Given the description of an element on the screen output the (x, y) to click on. 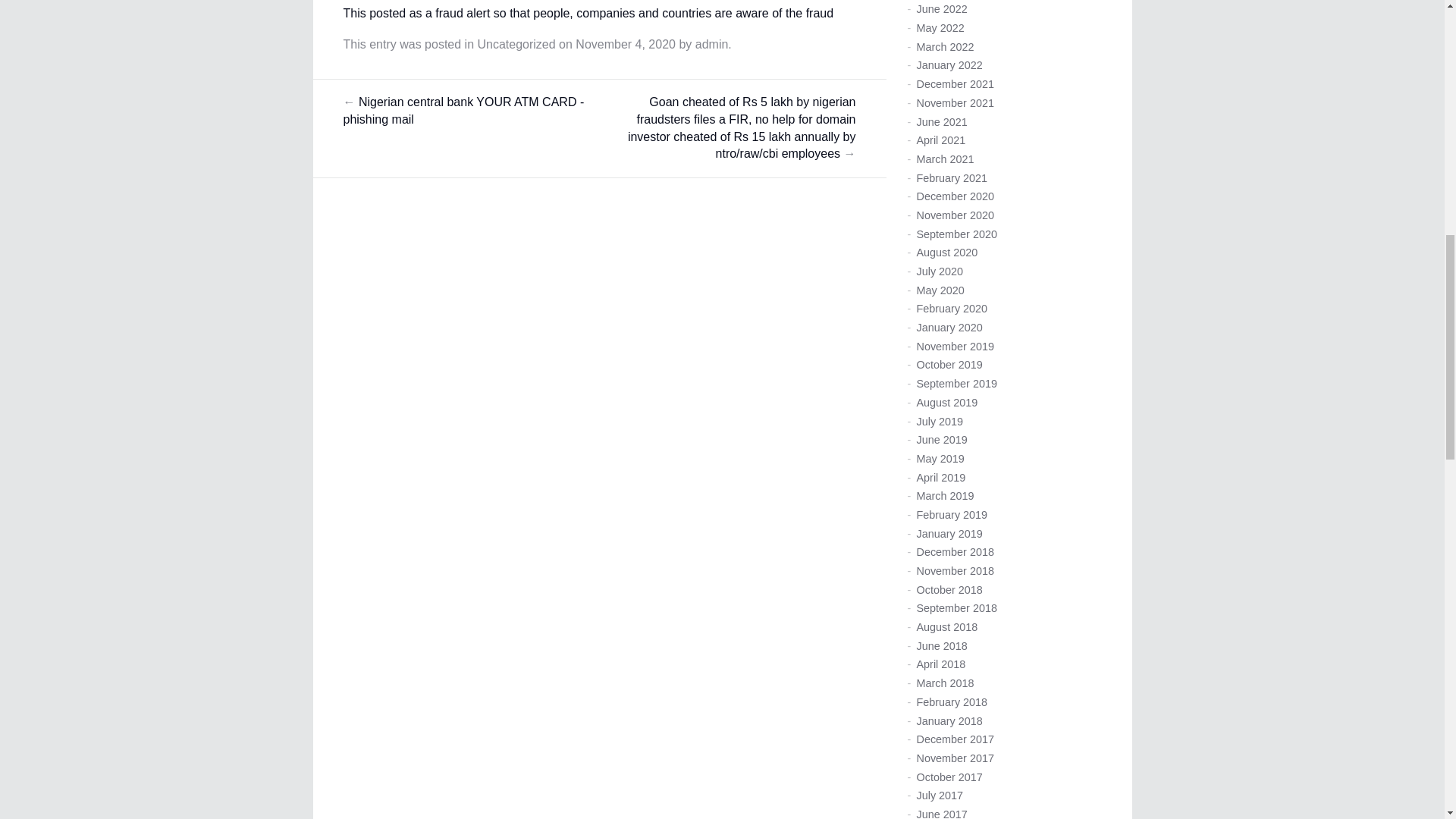
November 2020 (953, 215)
admin (712, 43)
February 2021 (951, 177)
December 2020 (953, 196)
November 2021 (953, 102)
January 2022 (948, 64)
June 2021 (940, 121)
Uncategorized (515, 43)
11:17 pm (625, 43)
March 2022 (944, 46)
December 2021 (953, 83)
View all posts by admin (712, 43)
April 2021 (940, 140)
November 4, 2020 (625, 43)
March 2021 (944, 159)
